Given the description of an element on the screen output the (x, y) to click on. 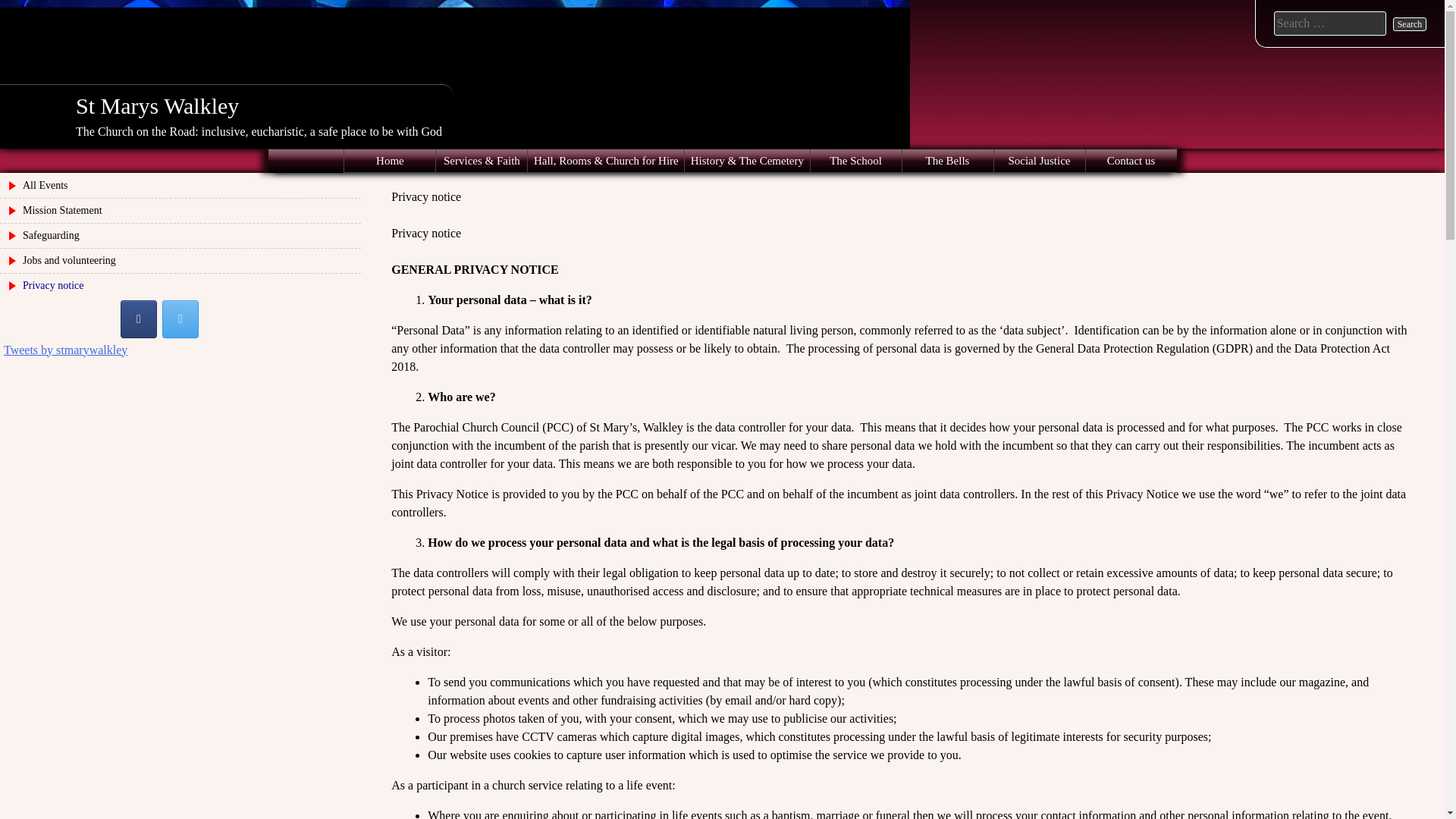
The School (855, 160)
Search (1409, 24)
Search (1409, 24)
St Marys Walkley (156, 105)
Social Justice (1038, 160)
Search (1409, 24)
Privacy notice (180, 285)
The Bells (947, 160)
St Marys Walkley on Facebook (138, 319)
St Marys Walkley on  (221, 319)
All Events (180, 185)
Contact us (1131, 160)
Home (389, 160)
Tweets by stmarywalkley (66, 349)
St Marys Walkley (156, 105)
